Given the description of an element on the screen output the (x, y) to click on. 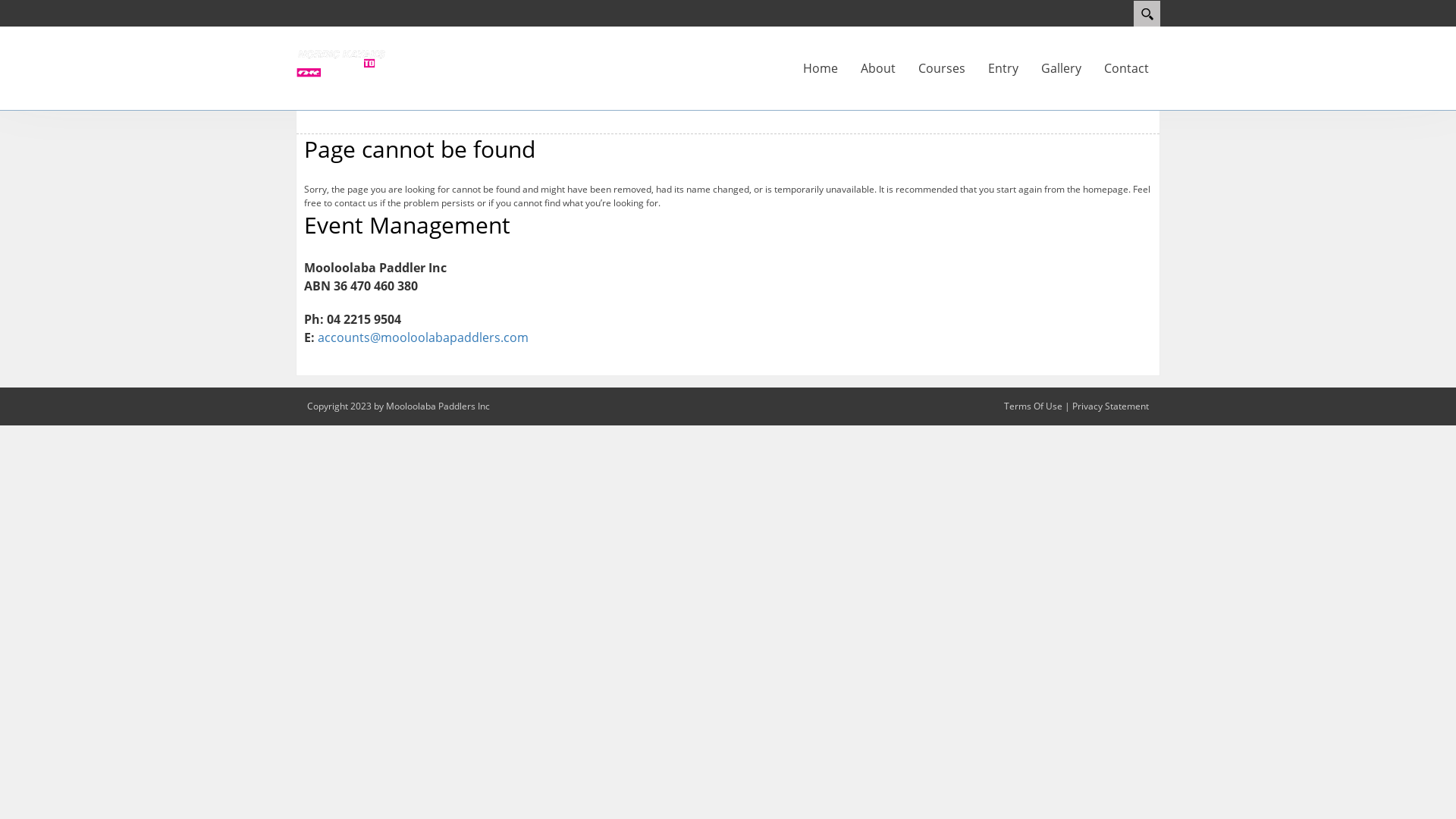
Gallery Element type: text (1060, 68)
Contact Element type: text (1126, 68)
Search Element type: text (1146, 13)
Courses Element type: text (941, 68)
Oceanpaddle Element type: hover (340, 62)
About Element type: text (877, 68)
Entry Element type: text (1002, 68)
Home Element type: text (820, 68)
Privacy Statement Element type: text (1110, 405)
Terms Of Use Element type: text (1033, 405)
accounts@mooloolabapaddlers.com Element type: text (422, 337)
